Given the description of an element on the screen output the (x, y) to click on. 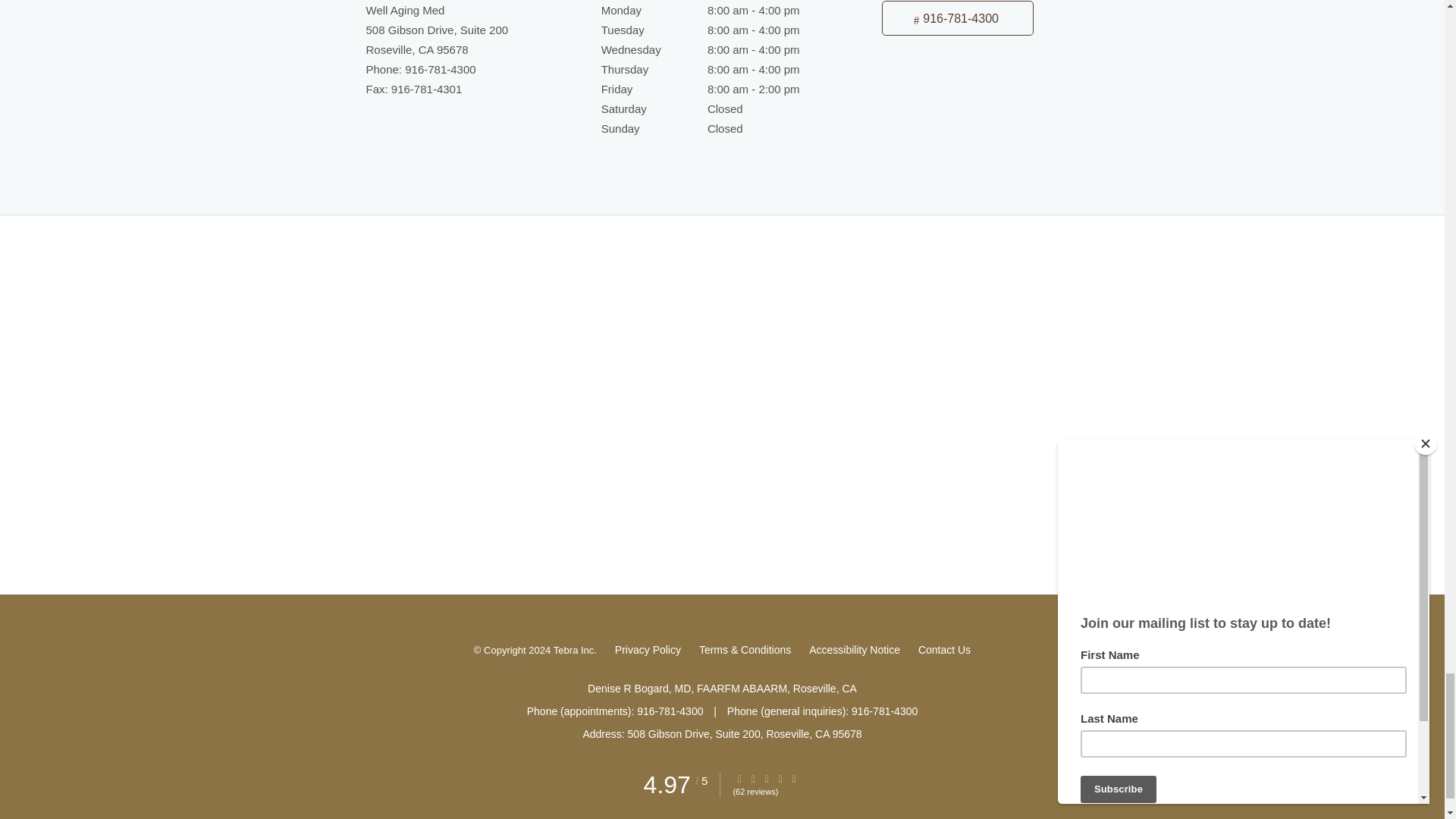
Star Rating (766, 778)
Star Rating (794, 778)
Star Rating (738, 778)
Star Rating (753, 778)
Star Rating (780, 778)
